Given the description of an element on the screen output the (x, y) to click on. 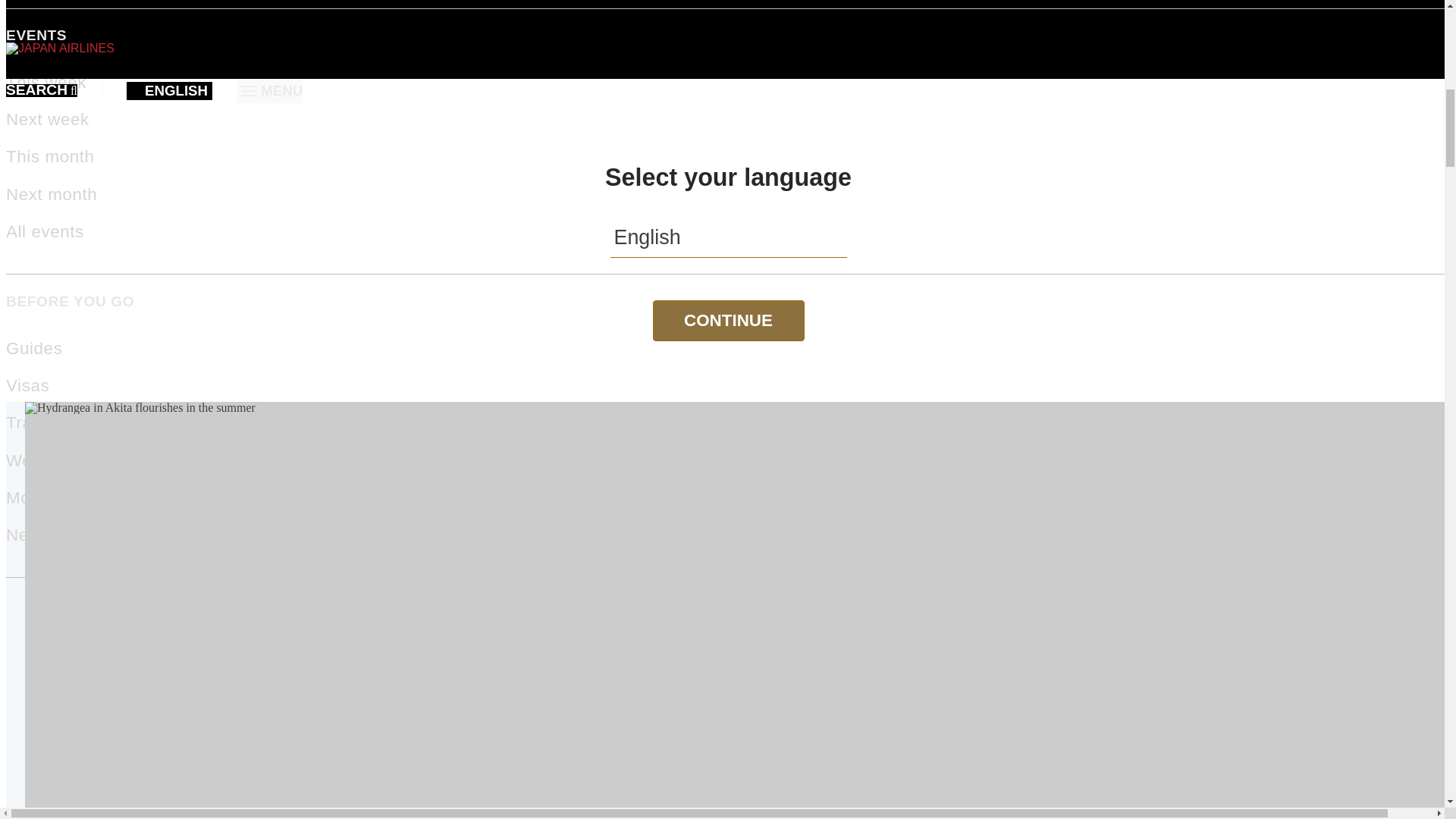
Transportation (62, 422)
Next month (51, 194)
All events (44, 230)
Weather (38, 460)
This week (45, 81)
Guides (33, 348)
News (27, 534)
This month (49, 156)
JAPAN MAP (727, 629)
Money (32, 497)
Visas (27, 384)
Next week (46, 118)
